Given the description of an element on the screen output the (x, y) to click on. 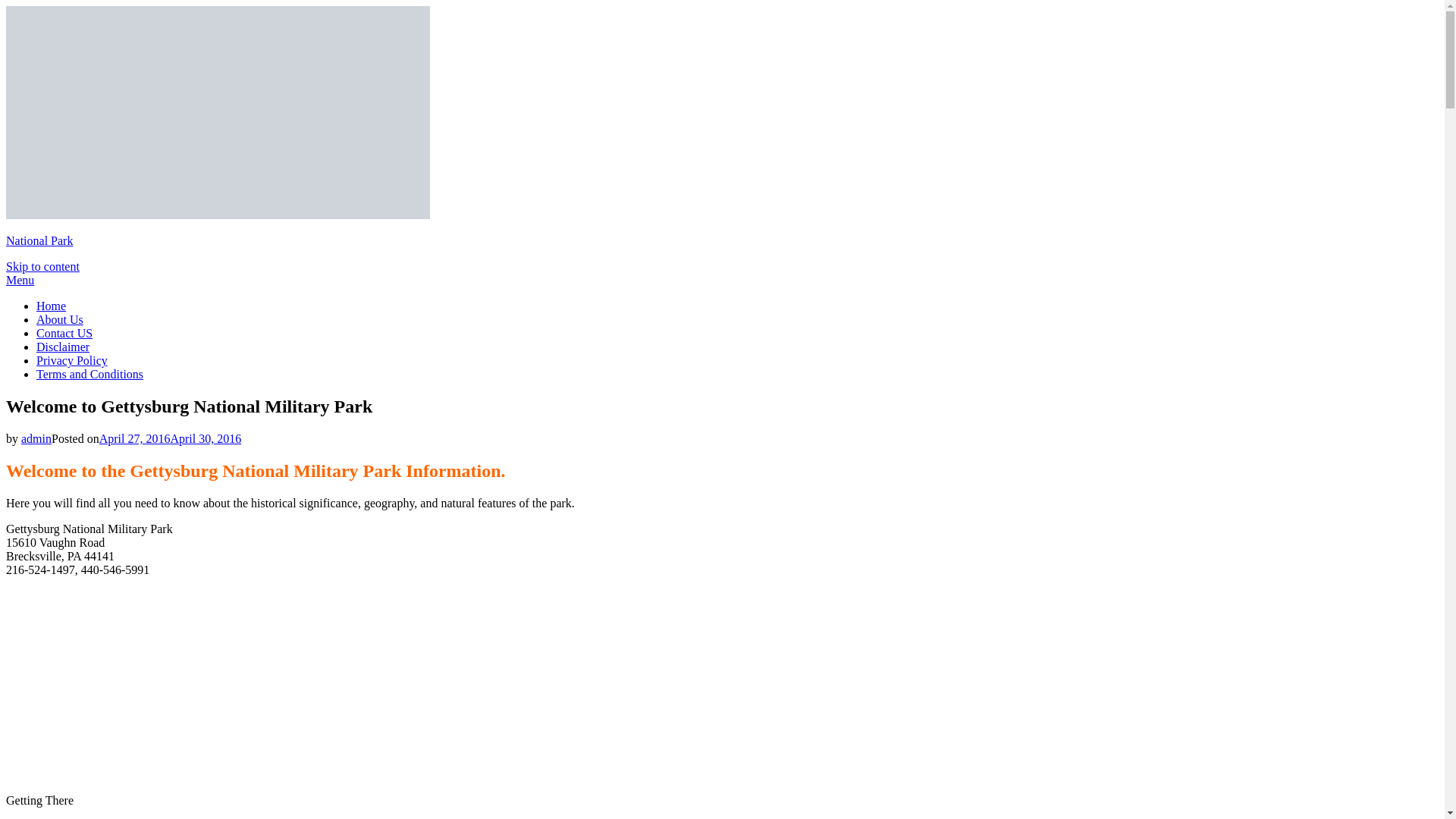
April 27, 2016April 30, 2016 (170, 438)
National Park (38, 240)
About Us (59, 318)
Skip to content (42, 266)
Disclaimer (62, 346)
Contact US (64, 332)
Menu (19, 279)
National Park (38, 240)
Terms and Conditions (89, 373)
Home (50, 305)
